Given the description of an element on the screen output the (x, y) to click on. 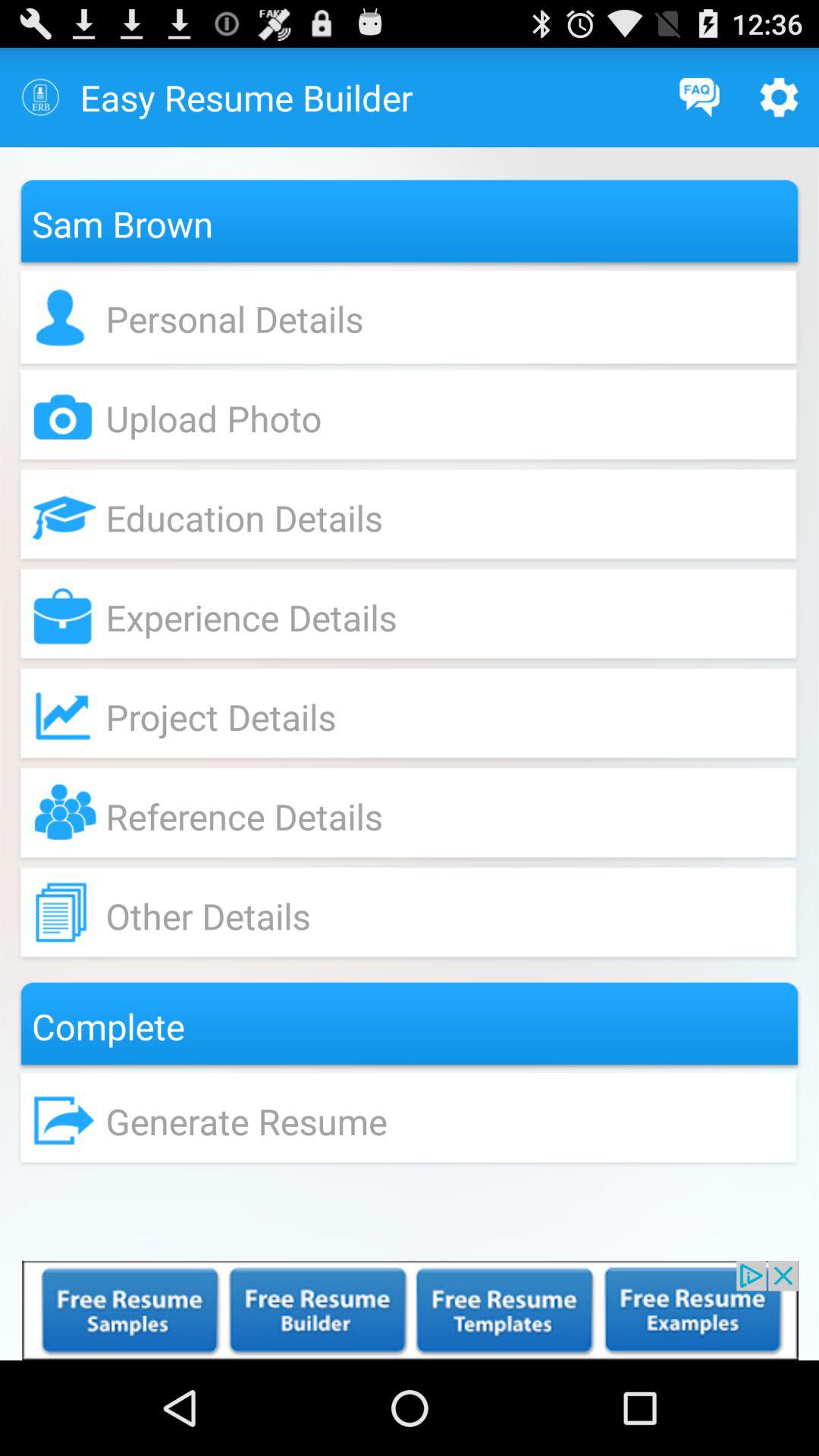
click faq button (699, 97)
